Given the description of an element on the screen output the (x, y) to click on. 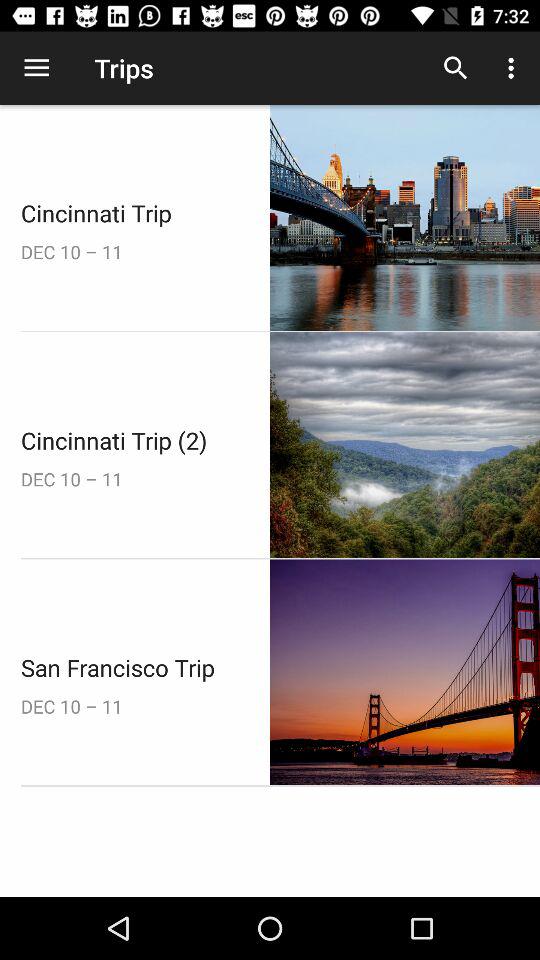
choose the item to the left of trips item (36, 68)
